Given the description of an element on the screen output the (x, y) to click on. 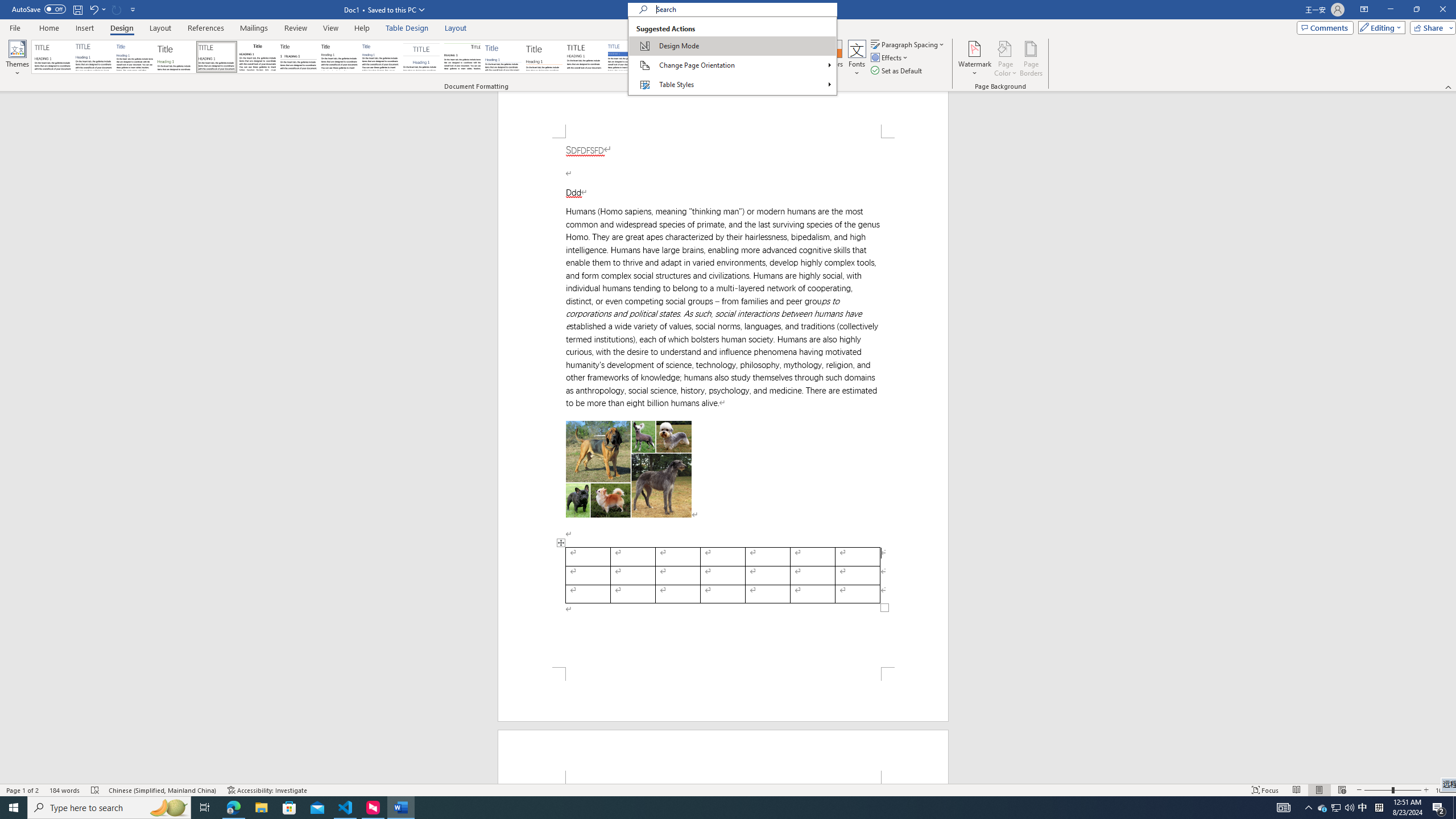
Design Mode (731, 45)
Basic (Simple) (135, 56)
Black & White (Capitalized) (216, 56)
Themes (17, 58)
Effects (890, 56)
Class: NetUITWMenuContainer (731, 56)
Fonts (856, 58)
Class: NetUIScrollBar (1450, 437)
Minimalist (584, 56)
Basic (Elegant) (93, 56)
